Given the description of an element on the screen output the (x, y) to click on. 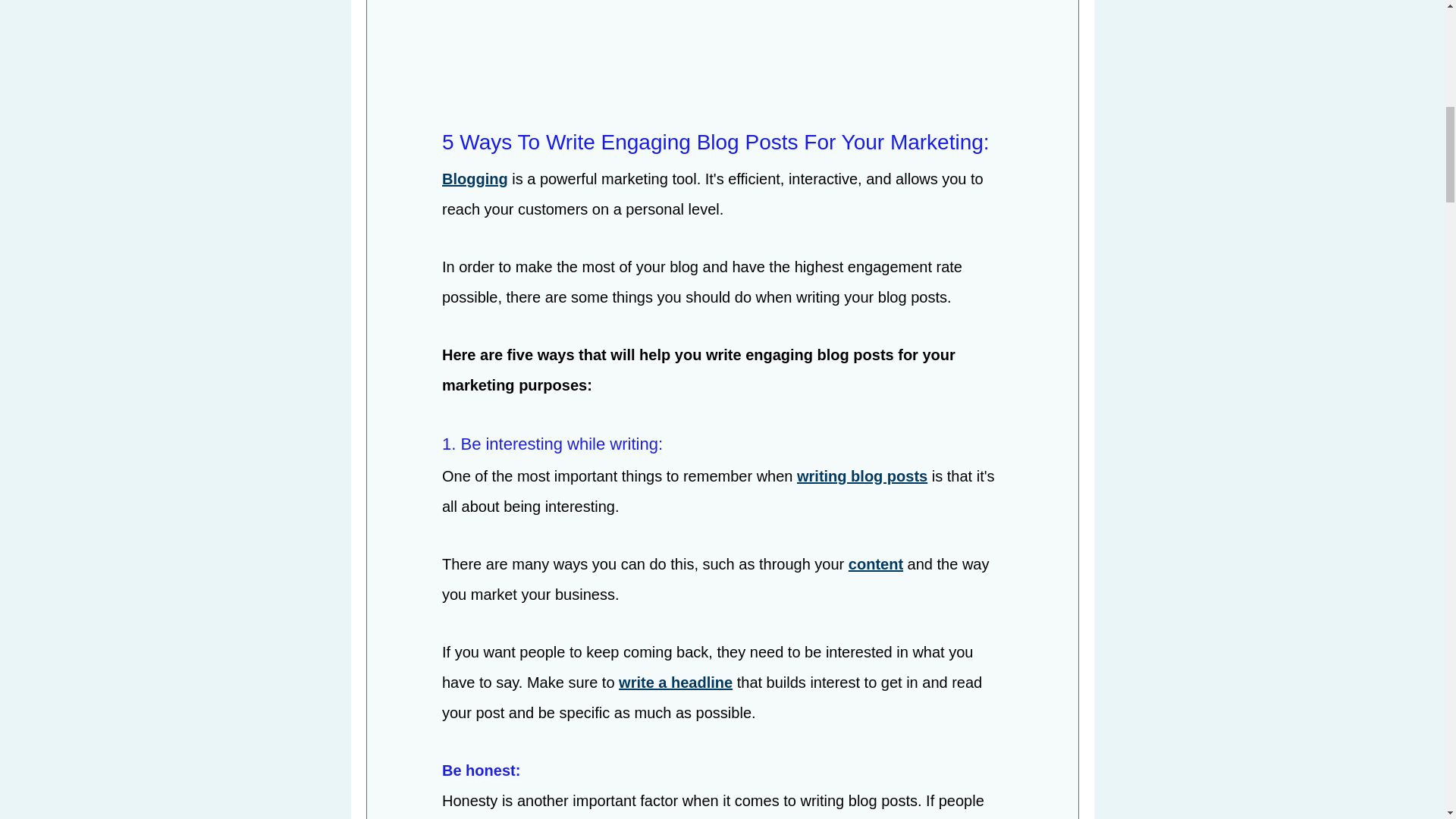
Blogging (473, 180)
writing blog posts (861, 477)
content (874, 565)
write a headline (675, 683)
